Given the description of an element on the screen output the (x, y) to click on. 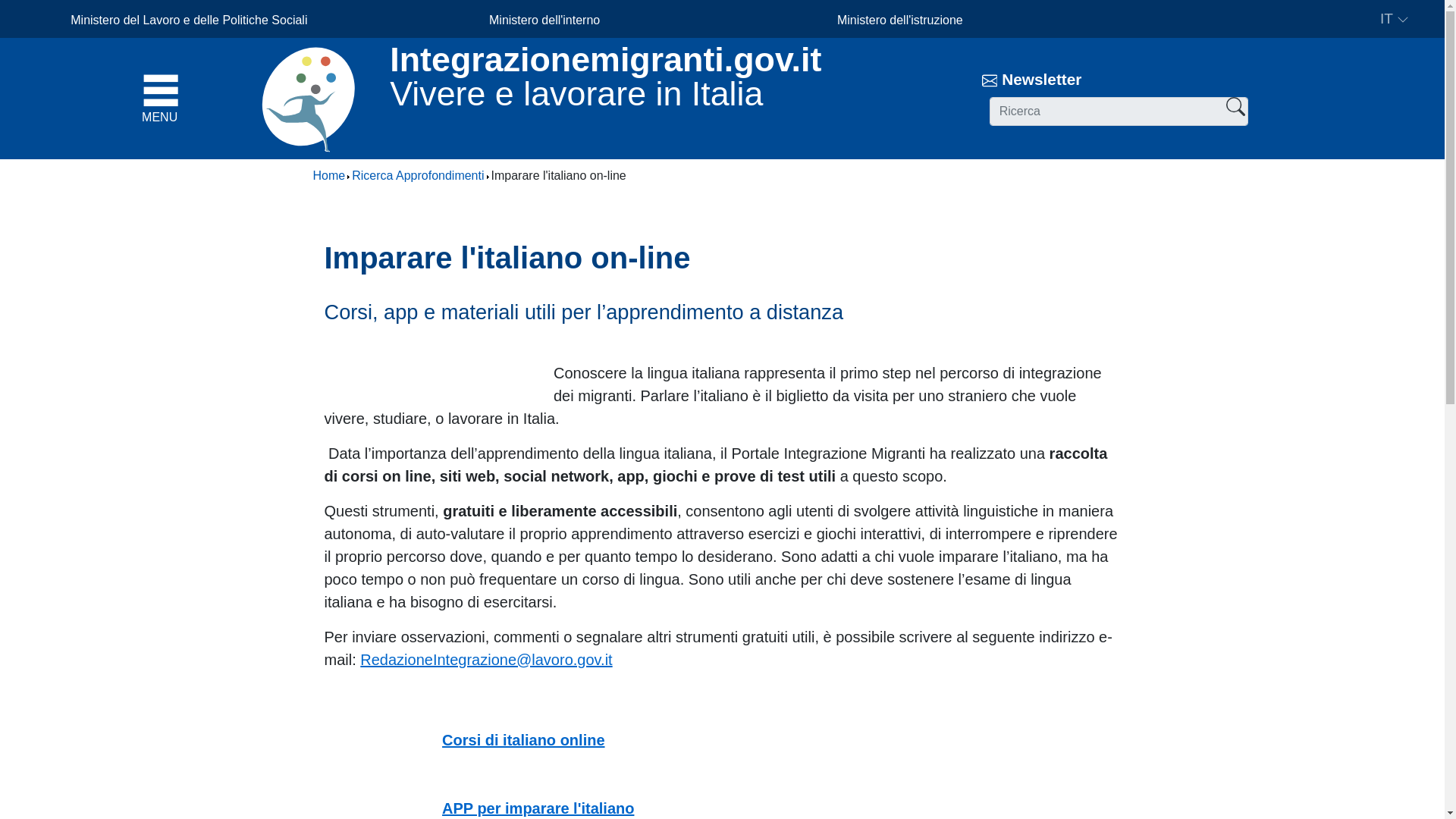
Integrazione Migranti Vivere e lavorare in Italia (315, 99)
Ministero dell'interno (544, 19)
Avvia la ricerca (1265, 102)
Iscriviti alla nostra newsletter (1041, 78)
espandi il menu (189, 92)
IT (1394, 19)
APP per imparare l'italiano (537, 808)
Ricerca Approfondimenti (417, 174)
Corsi di italiano online (523, 740)
Ministero dell'interno (544, 19)
